Given the description of an element on the screen output the (x, y) to click on. 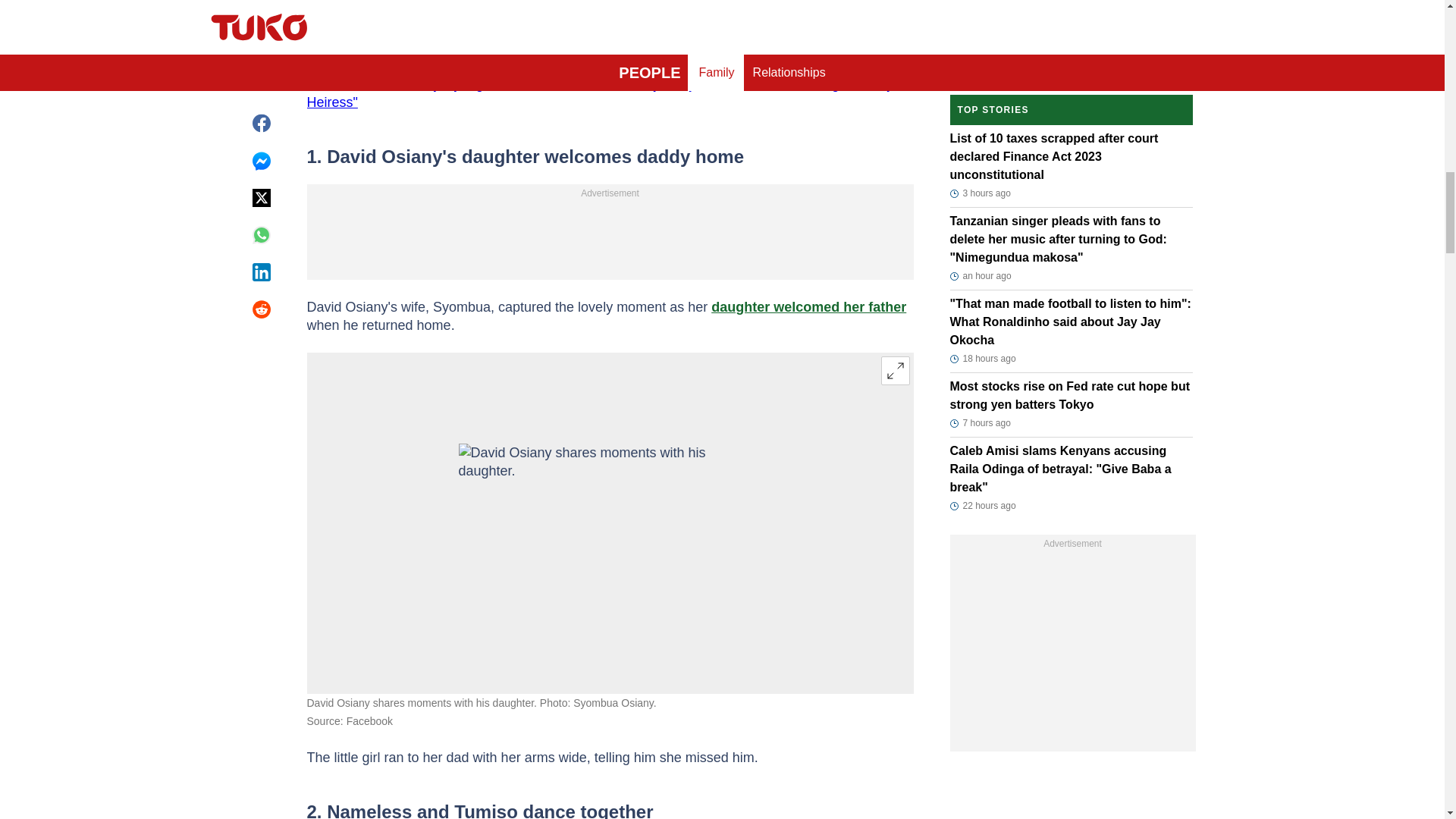
Expand image (895, 370)
David Osiany shares moments with his daughter. (609, 522)
